Given the description of an element on the screen output the (x, y) to click on. 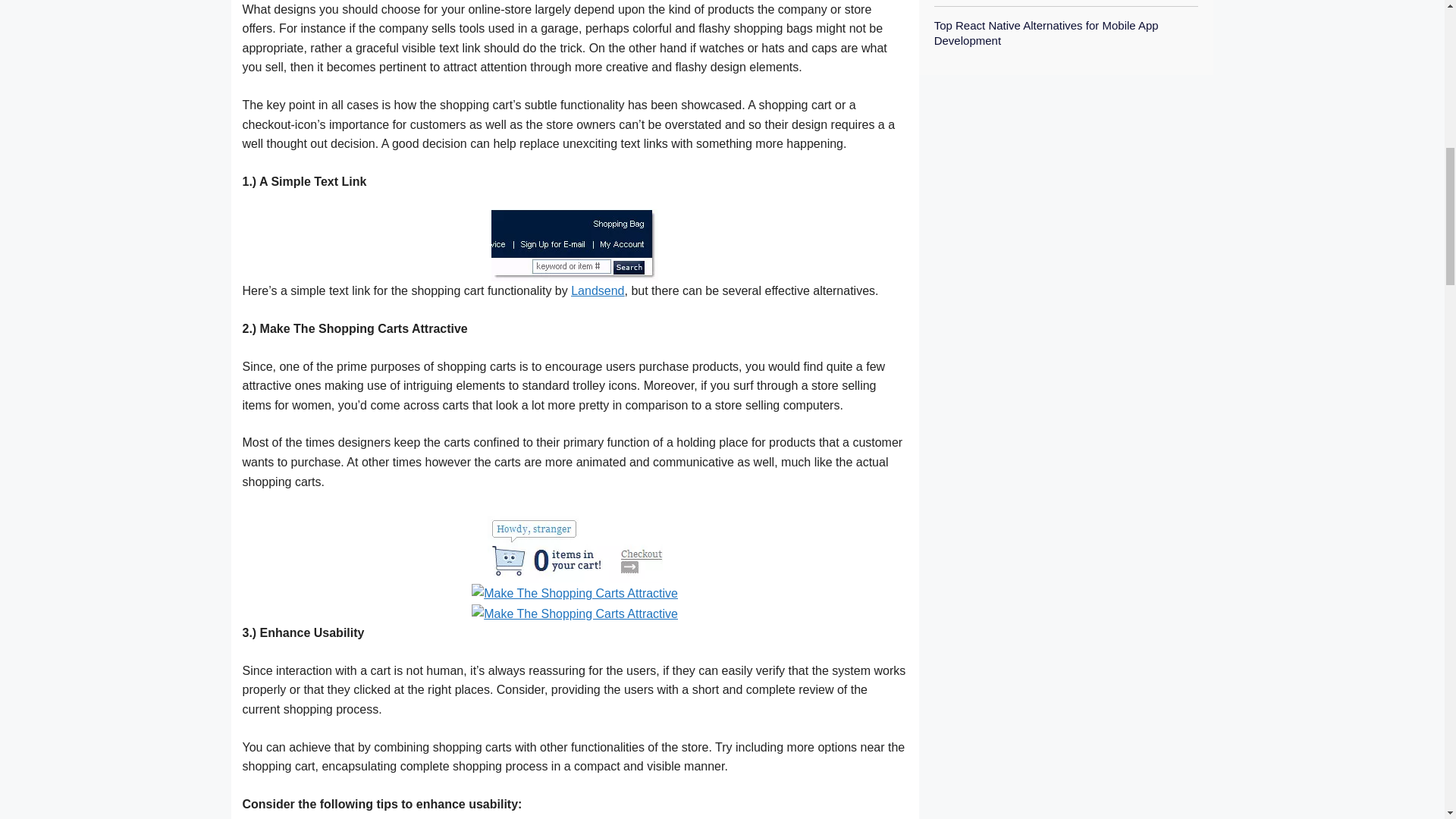
Make The Shopping Carts Attractive (574, 592)
Make The Shopping Carts Attractive (574, 612)
Make The Shopping Carts Attractive (574, 545)
A Simple Text Link (575, 244)
